Given the description of an element on the screen output the (x, y) to click on. 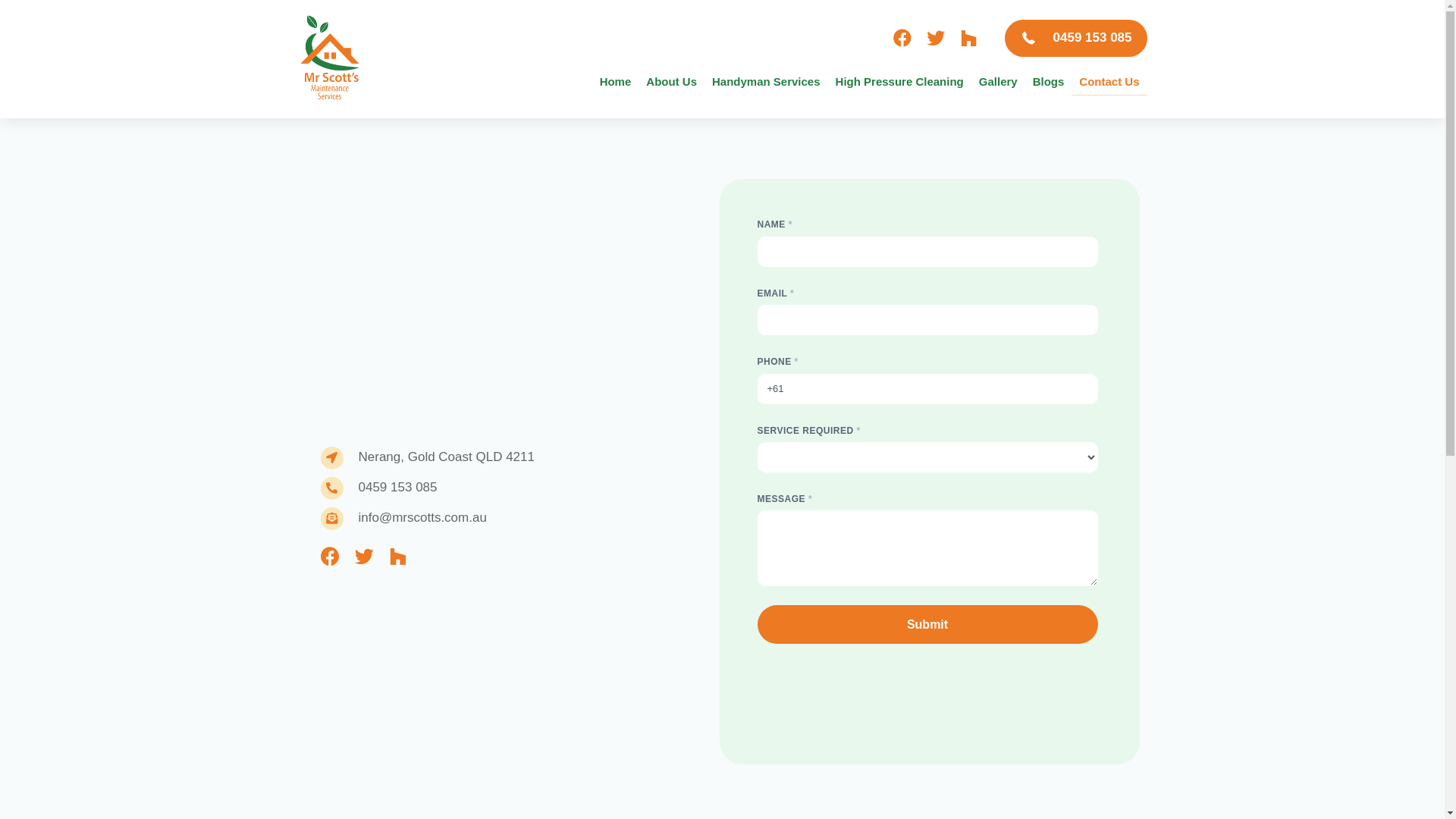
About Us Element type: text (671, 81)
Handyman Services Element type: text (766, 81)
Home Element type: text (615, 81)
Contact Us Element type: text (1108, 81)
High Pressure Cleaning Element type: text (899, 81)
Gallery Element type: text (998, 81)
ezgif.com-resize (5) Element type: hover (329, 58)
Submit Element type: text (927, 624)
Blogs Element type: text (1048, 81)
